Given the description of an element on the screen output the (x, y) to click on. 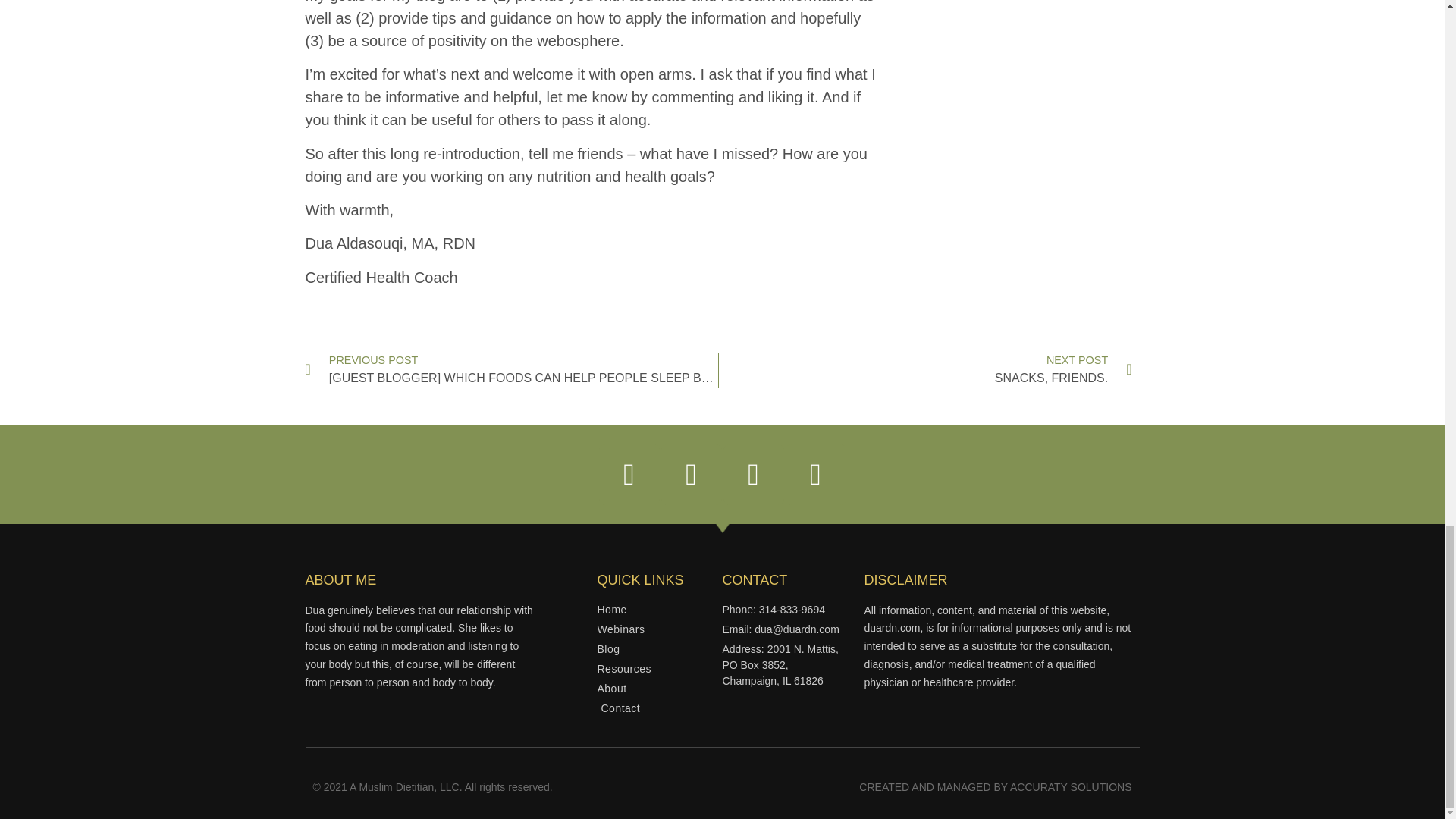
Home (925, 369)
Webinars (659, 609)
